Given the description of an element on the screen output the (x, y) to click on. 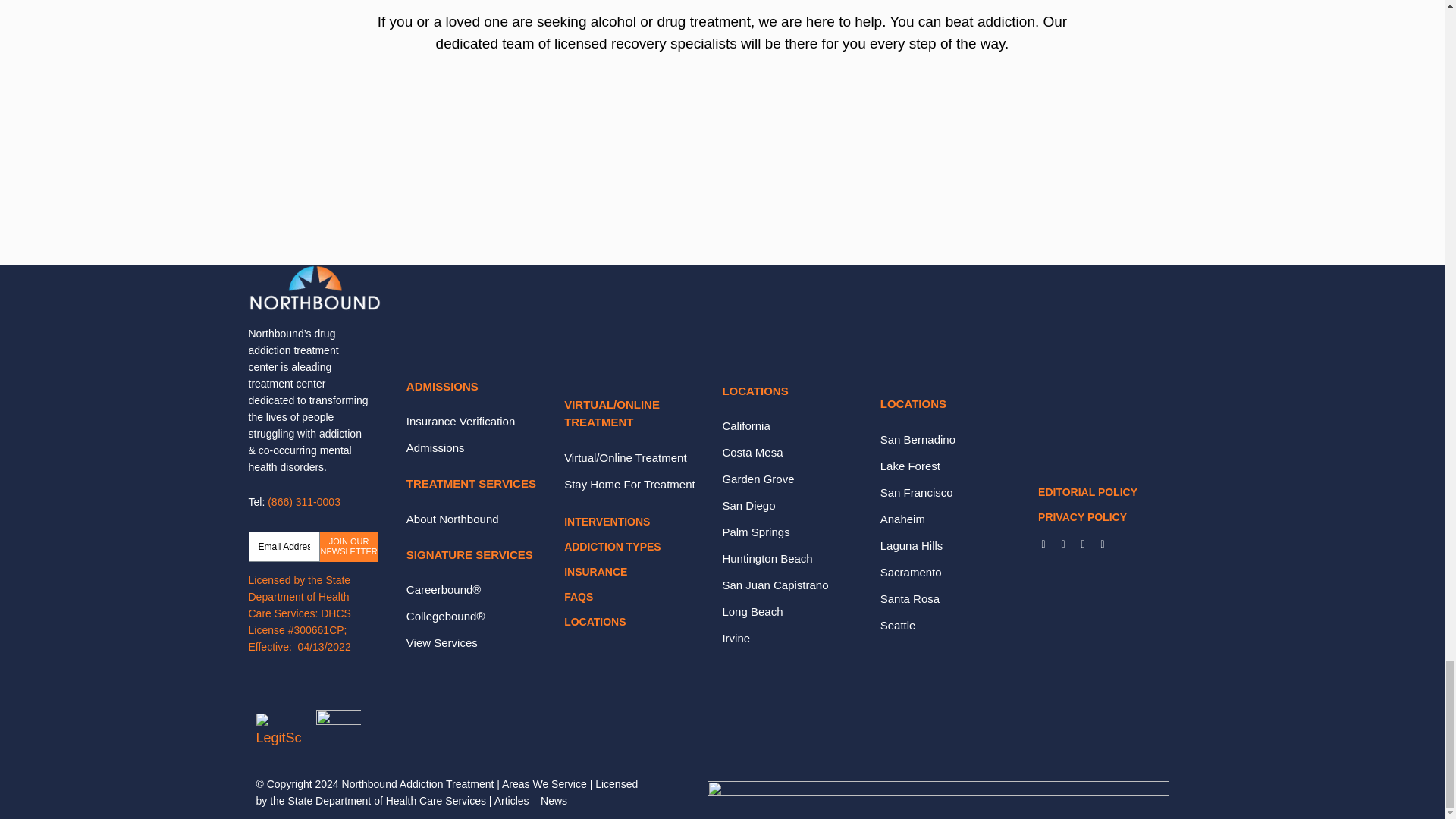
Verify LegitScript Approval (278, 733)
